Given the description of an element on the screen output the (x, y) to click on. 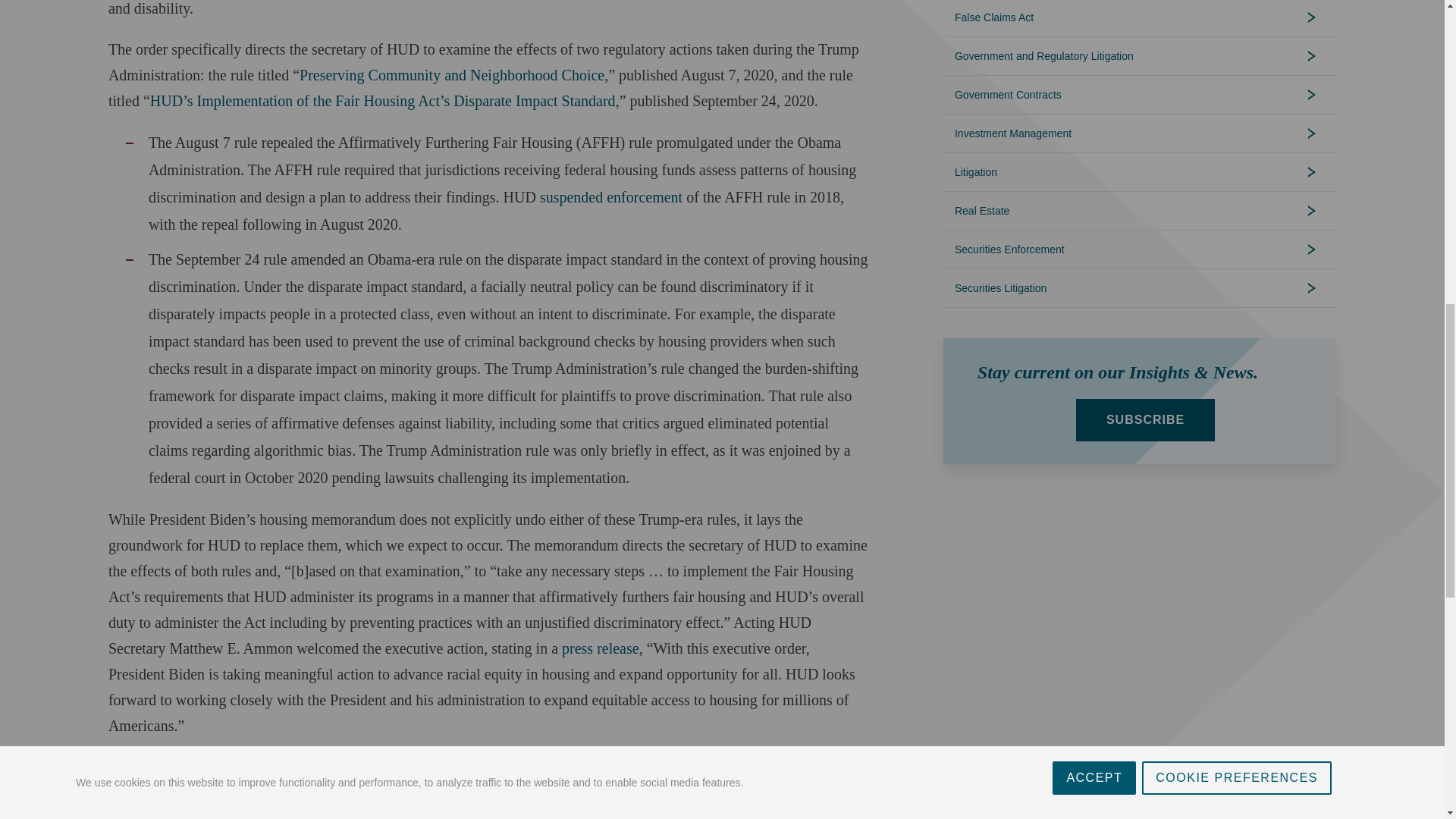
ACCEPT (1093, 12)
False Claims Act (1139, 18)
Litigation (1139, 171)
Government Contracts (1139, 94)
Real Estate (1139, 210)
Investment Management (1139, 133)
Government and Regulatory Litigation (1139, 55)
